Given the description of an element on the screen output the (x, y) to click on. 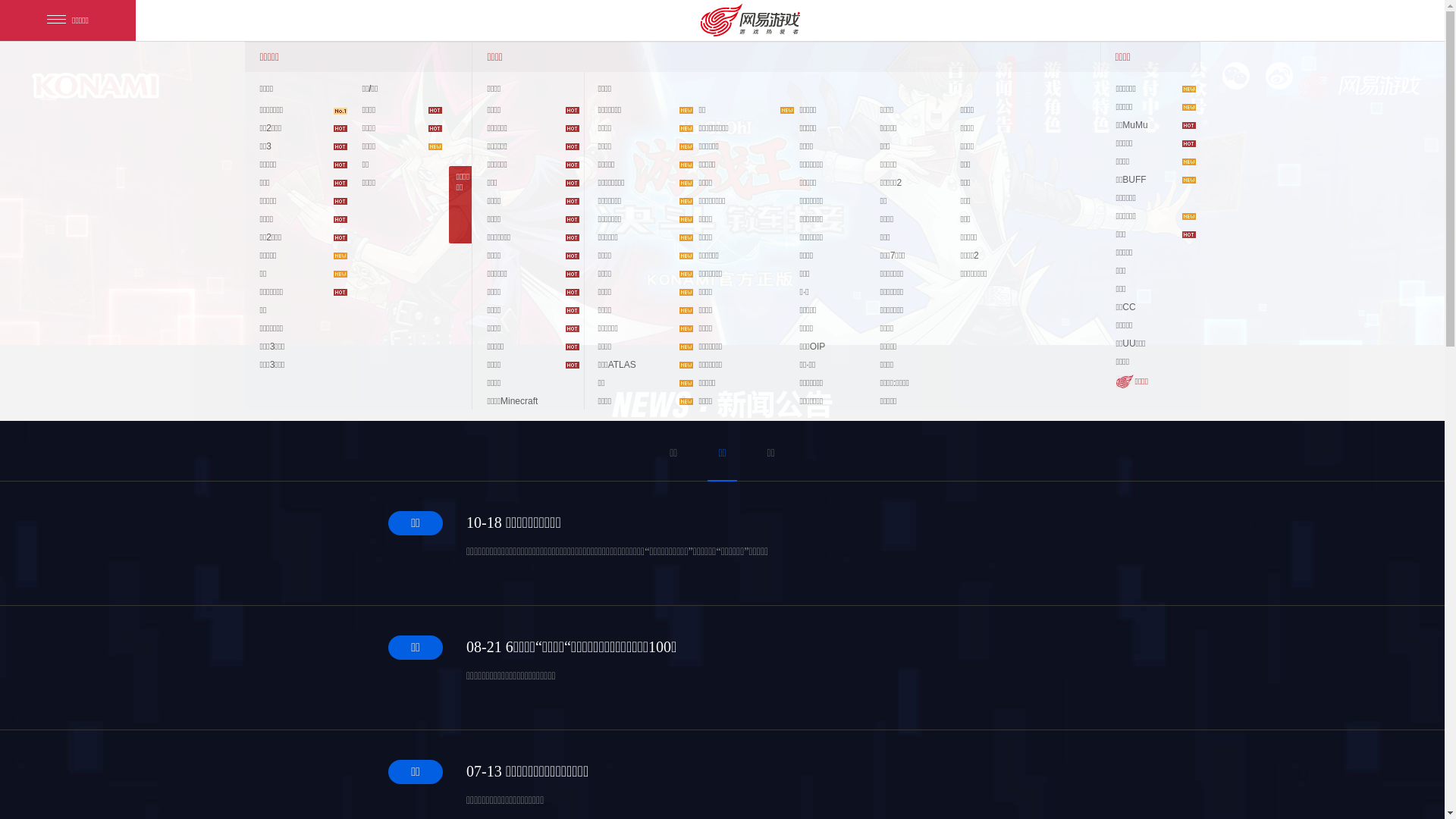
game-logo Element type: text (1359, 84)
logo Element type: text (95, 85)
